Given the description of an element on the screen output the (x, y) to click on. 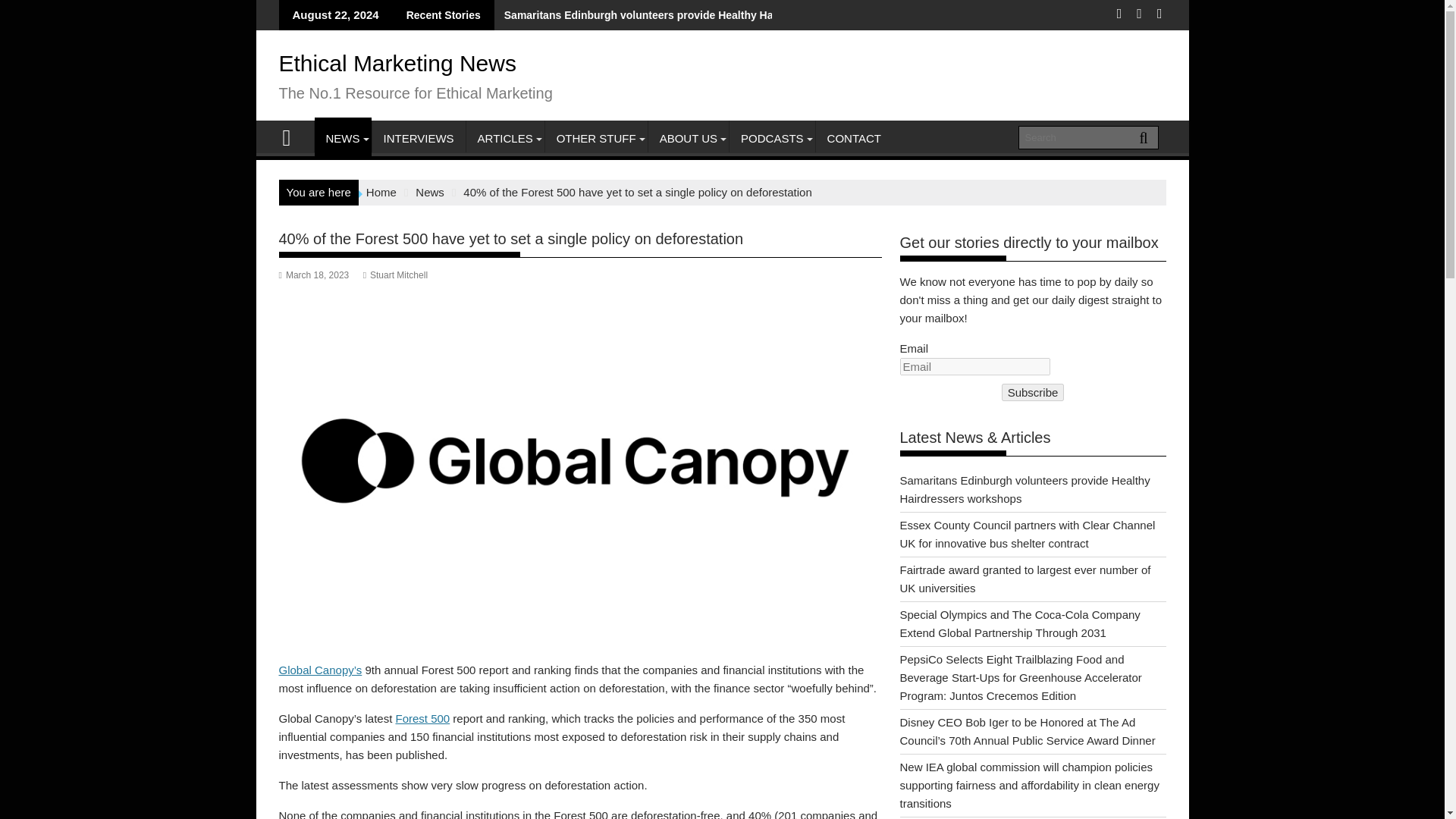
Subscribe (1032, 392)
Ethical Marketing News (397, 63)
ABOUT US (688, 138)
NEWS (342, 138)
Ethical Marketing News (293, 136)
PODCASTS (772, 138)
INTERVIEWS (417, 138)
